Given the description of an element on the screen output the (x, y) to click on. 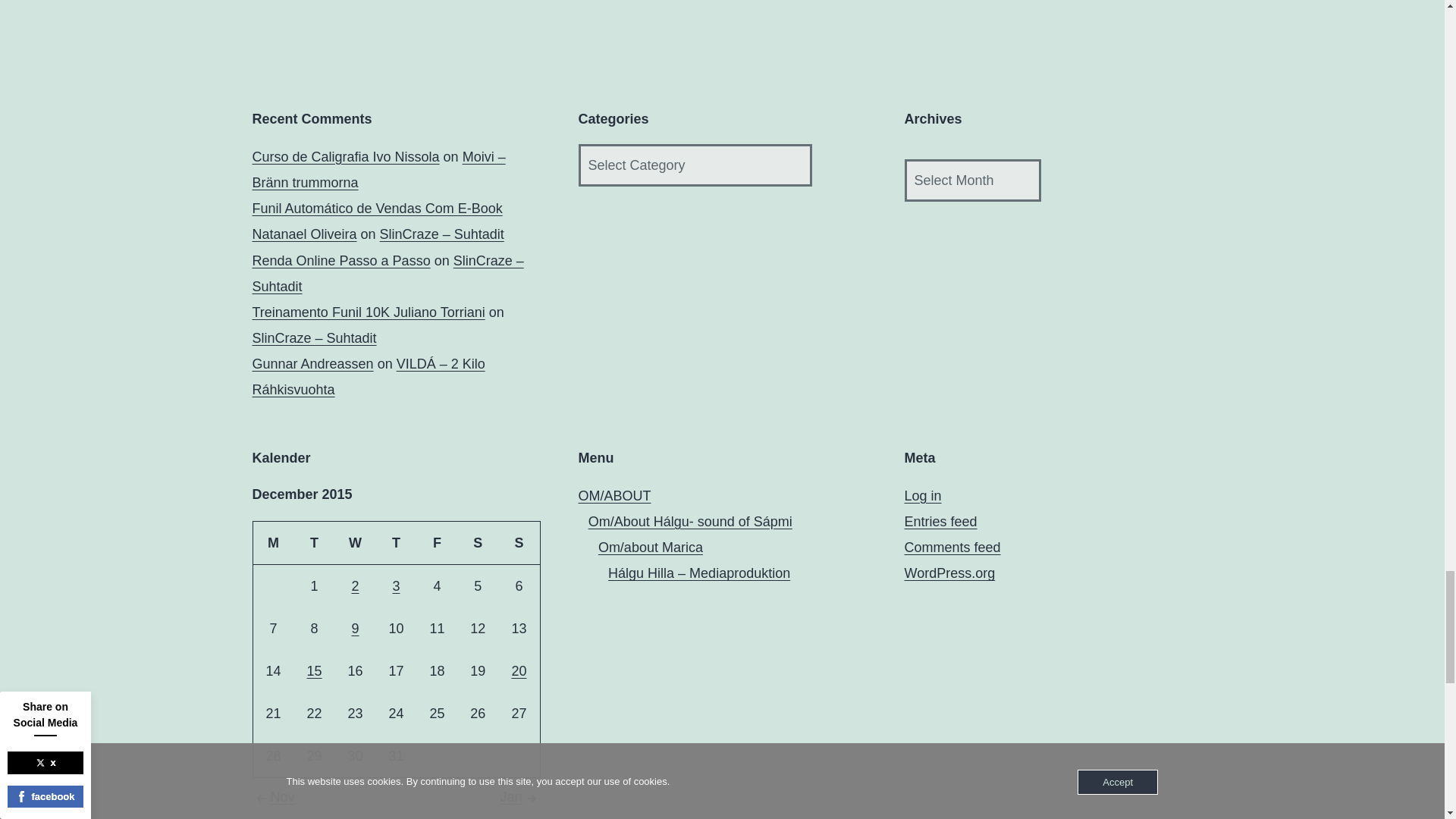
Thursday (395, 543)
Friday (436, 543)
Monday (272, 543)
Treinamento Funil 10K Juliano Torriani (367, 312)
Saturday (477, 543)
Sunday (518, 543)
Tuesday (314, 543)
Curso de Caligrafia Ivo Nissola (345, 156)
Renda Online Passo a Passo (340, 260)
Wednesday (354, 543)
